Given the description of an element on the screen output the (x, y) to click on. 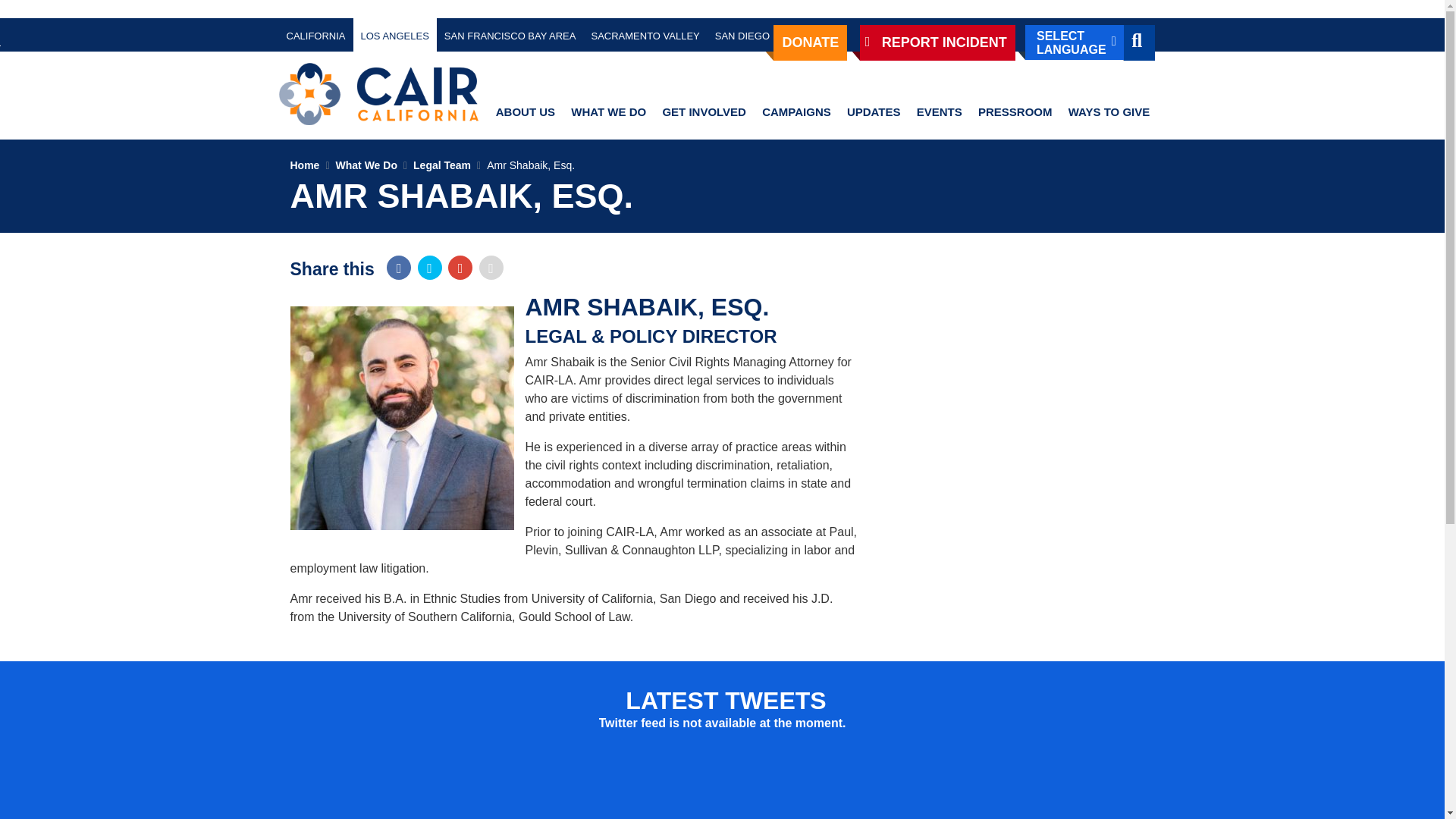
Send email (491, 266)
CALIFORNIA (316, 35)
Tweet (429, 266)
SACRAMENTO VALLEY (644, 35)
LOS ANGELES (394, 35)
REPORT INCIDENT (937, 42)
CAIR Los Angeles (379, 94)
WHAT WE DO (608, 112)
SAN DIEGO (742, 35)
ABOUT US (525, 112)
SAN FRANCISCO BAY AREA (509, 35)
Share on Facebook (398, 266)
DONATE (810, 42)
